Given the description of an element on the screen output the (x, y) to click on. 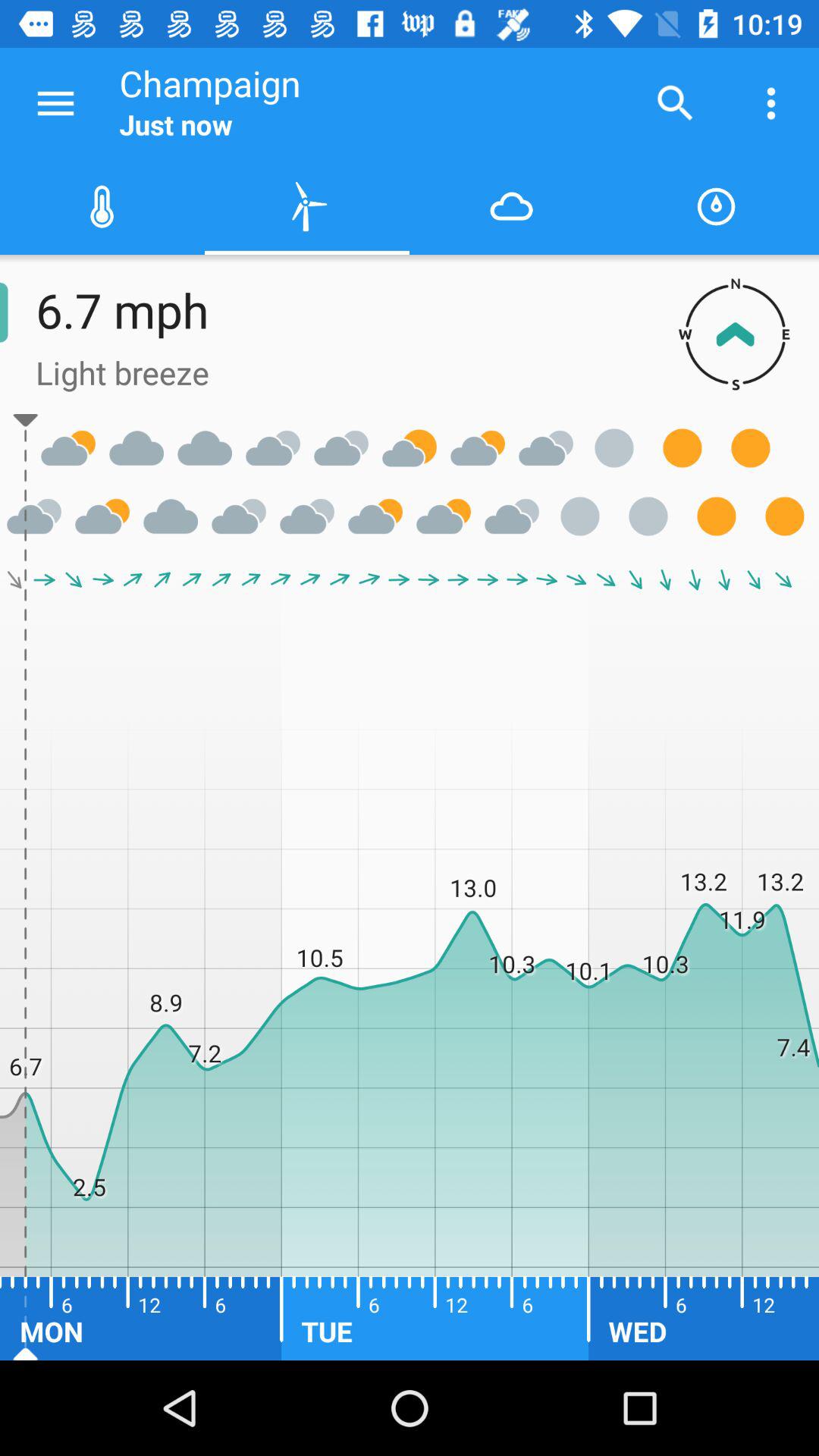
tap the icon to the right of champaign (675, 103)
